Given the description of an element on the screen output the (x, y) to click on. 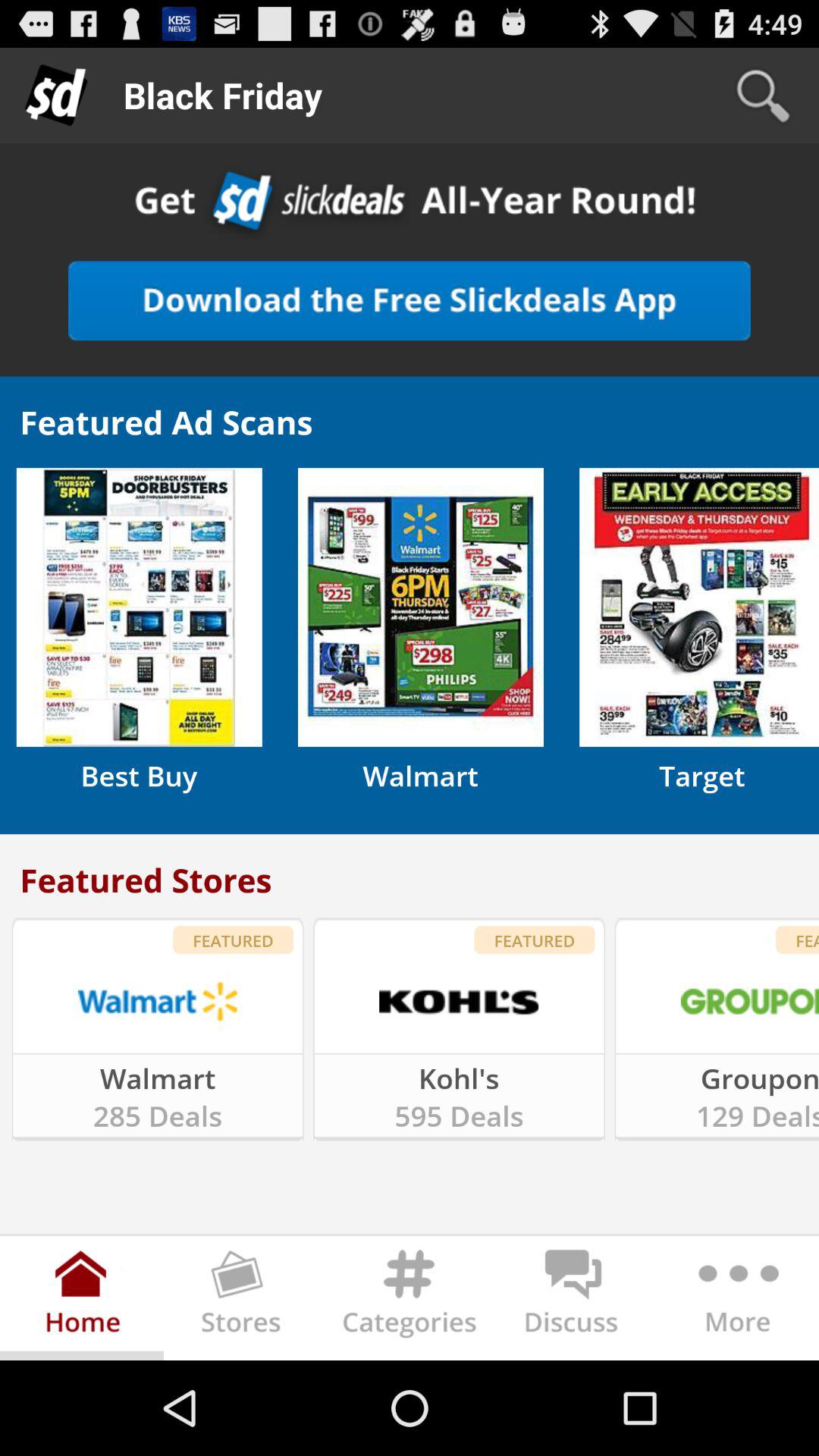
expand more options (736, 1300)
